Given the description of an element on the screen output the (x, y) to click on. 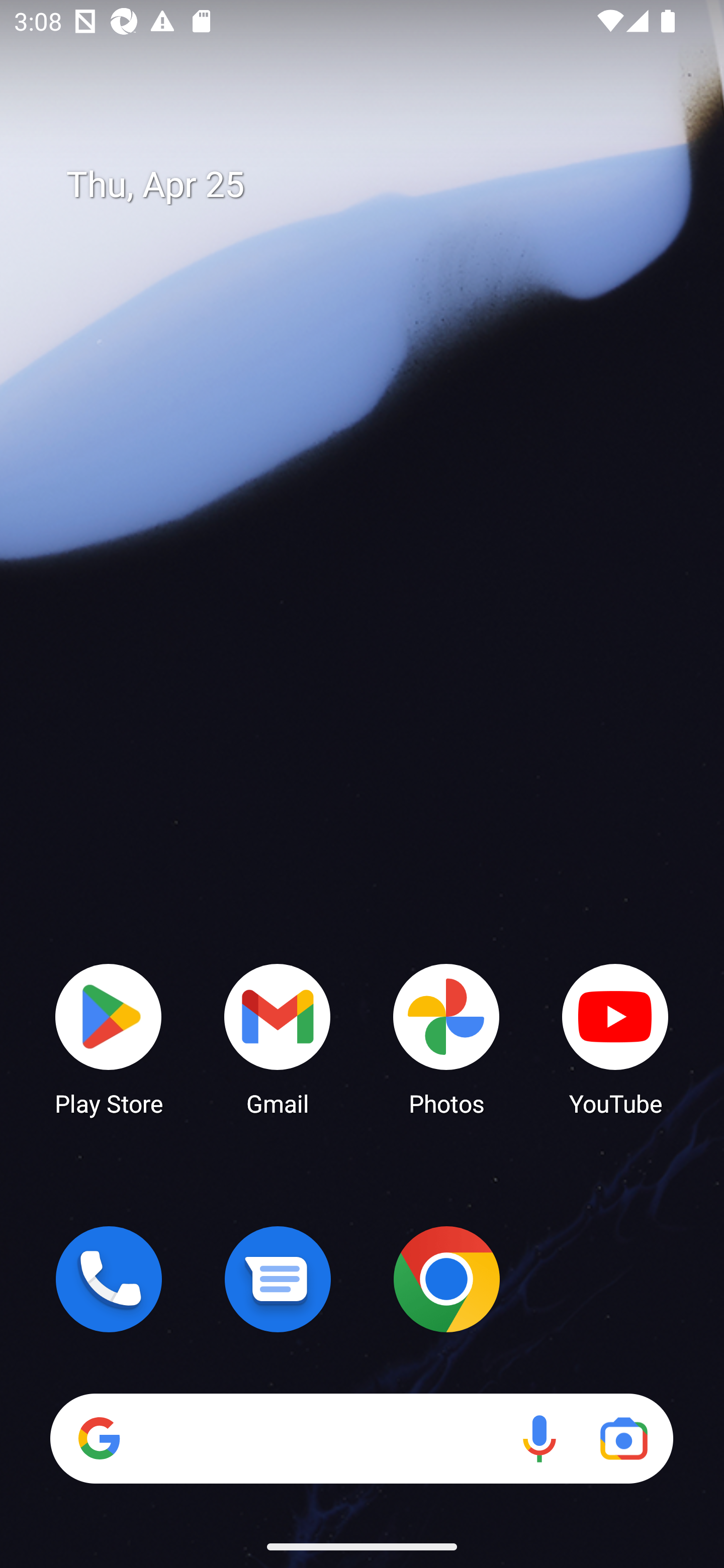
Thu, Apr 25 (375, 184)
Play Store (108, 1038)
Gmail (277, 1038)
Photos (445, 1038)
YouTube (615, 1038)
Phone (108, 1279)
Messages (277, 1279)
Chrome (446, 1279)
Search Voice search Google Lens (361, 1438)
Voice search (539, 1438)
Google Lens (623, 1438)
